Given the description of an element on the screen output the (x, y) to click on. 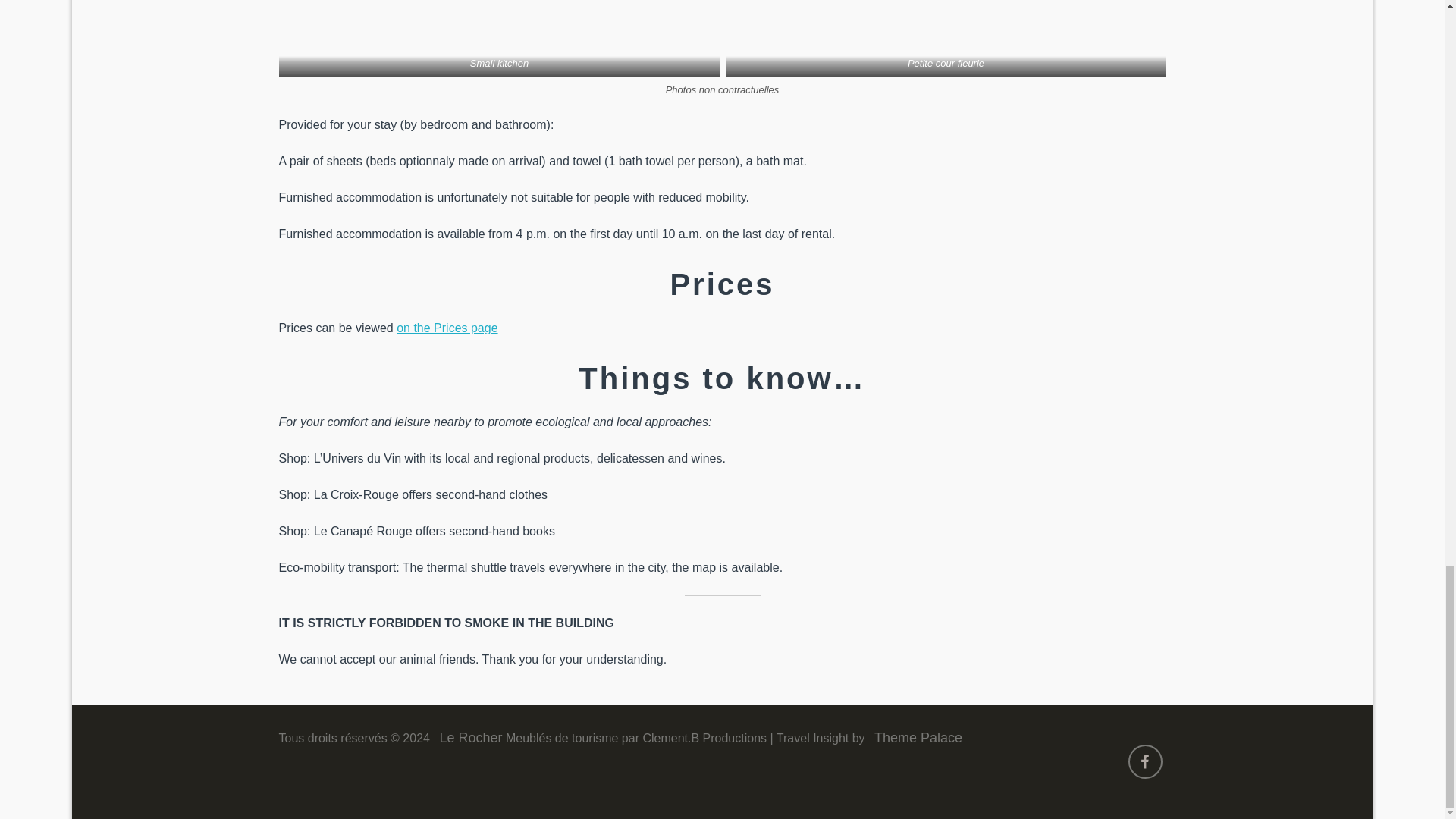
on the Prices page (446, 327)
FACEBOOK (1144, 761)
Le Rocher (467, 737)
Theme Palace (914, 737)
